Given the description of an element on the screen output the (x, y) to click on. 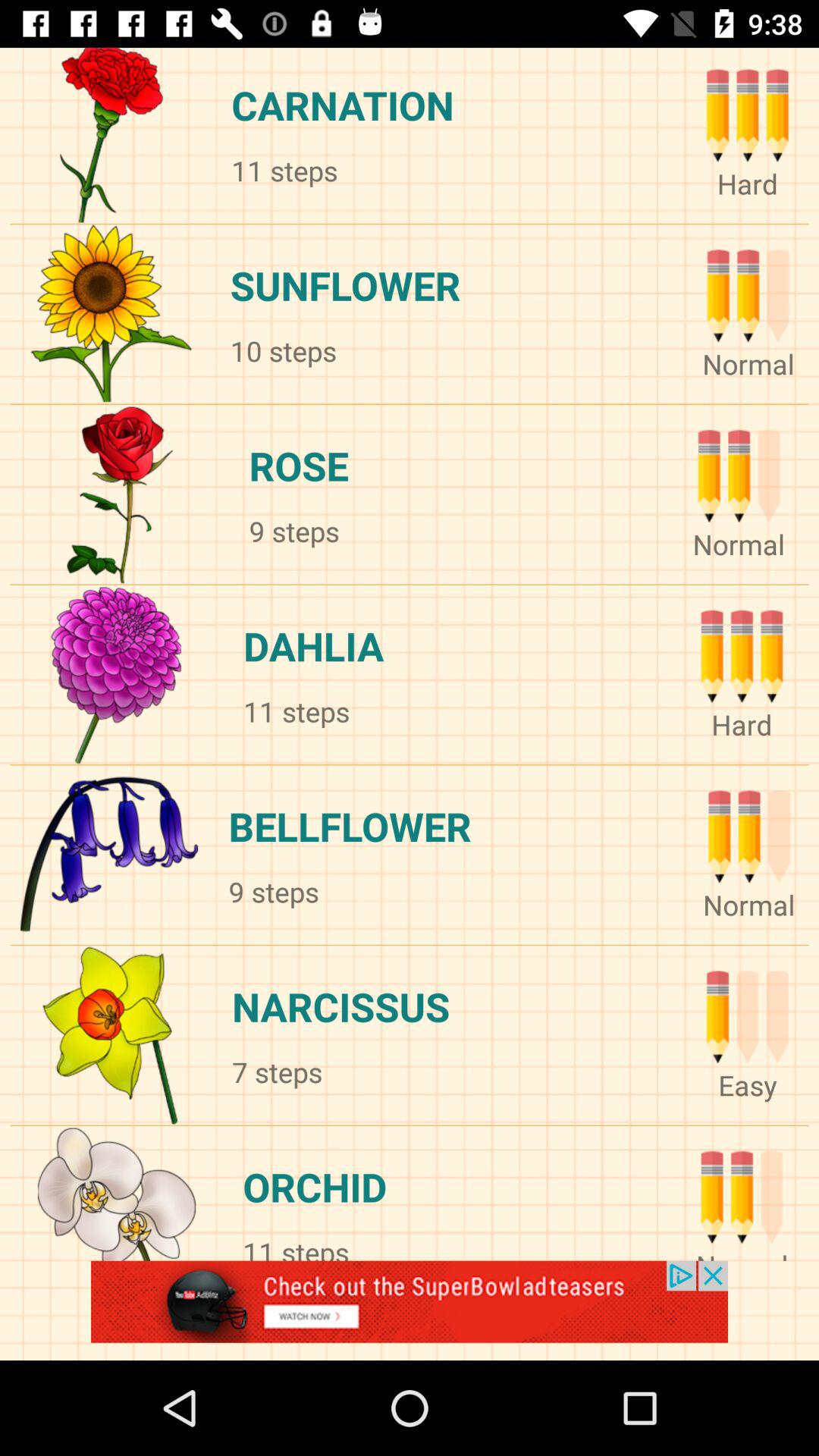
advertisement page (409, 1310)
